Given the description of an element on the screen output the (x, y) to click on. 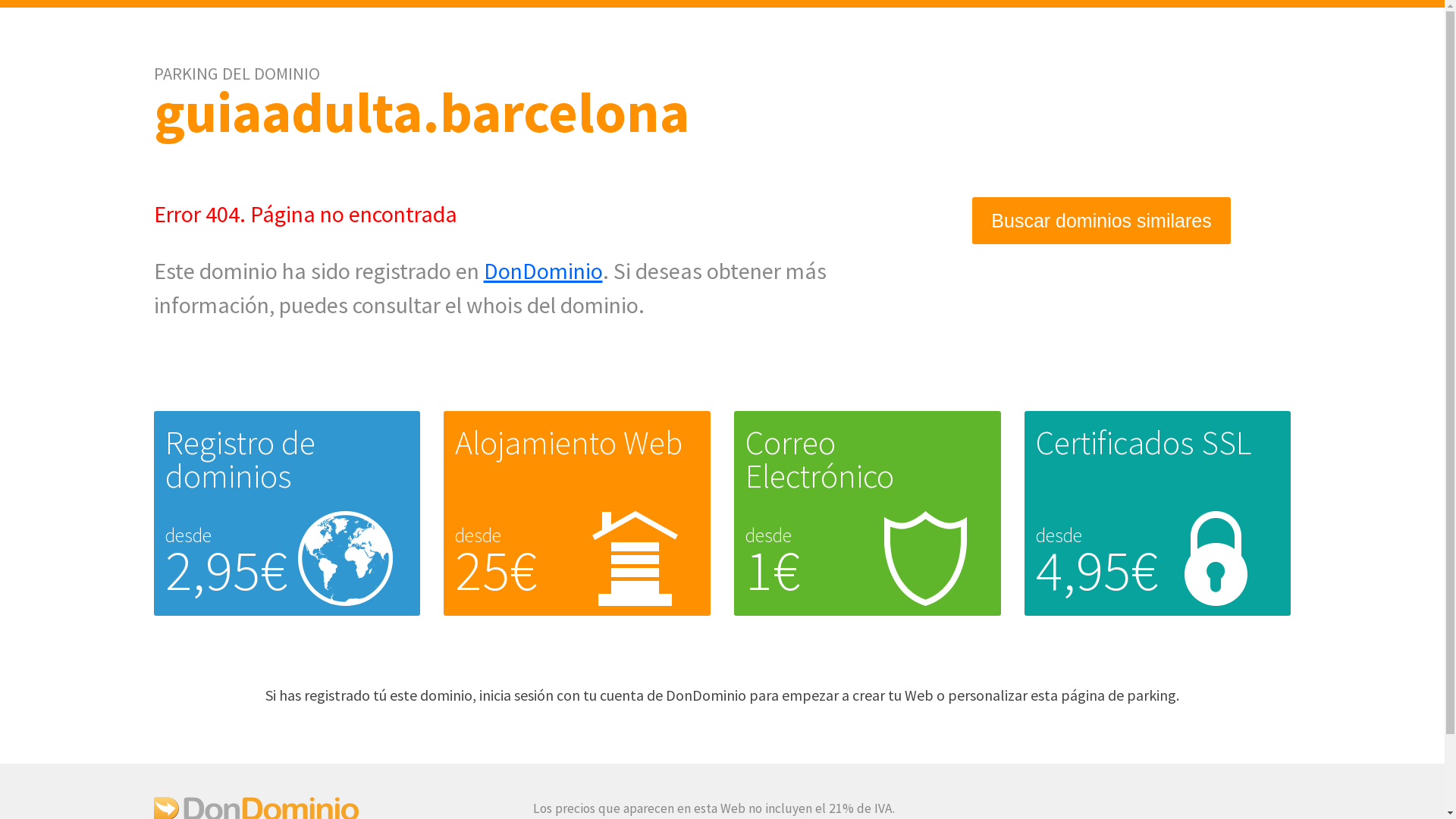
DonDominio Element type: text (542, 270)
Registro de dominios Element type: text (240, 458)
Certificados SSL Element type: text (1143, 442)
Buscar dominios similares Element type: text (1101, 220)
Alojamiento Web Element type: text (568, 442)
